Given the description of an element on the screen output the (x, y) to click on. 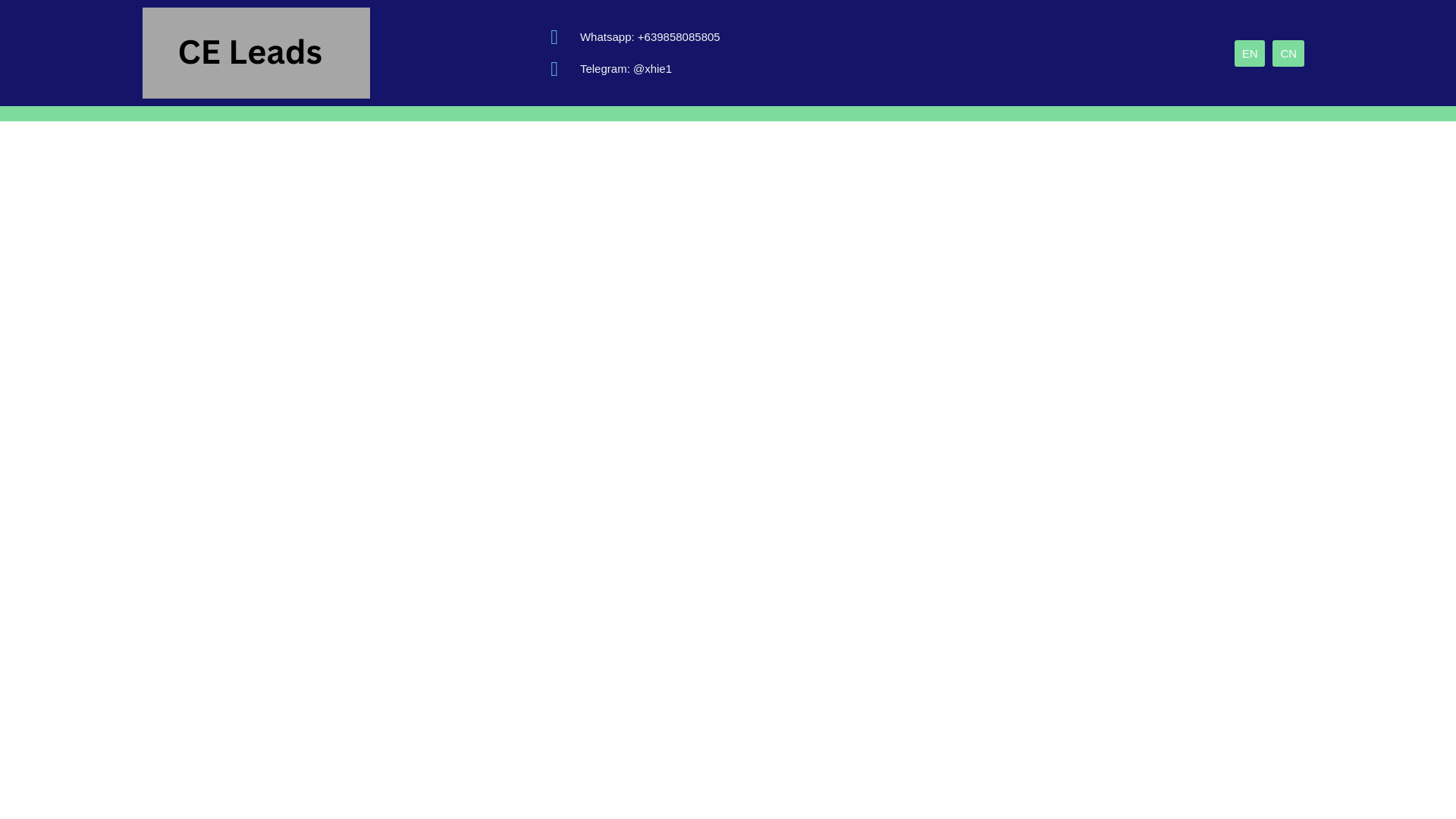
CN (1288, 52)
EN (1249, 52)
